Given the description of an element on the screen output the (x, y) to click on. 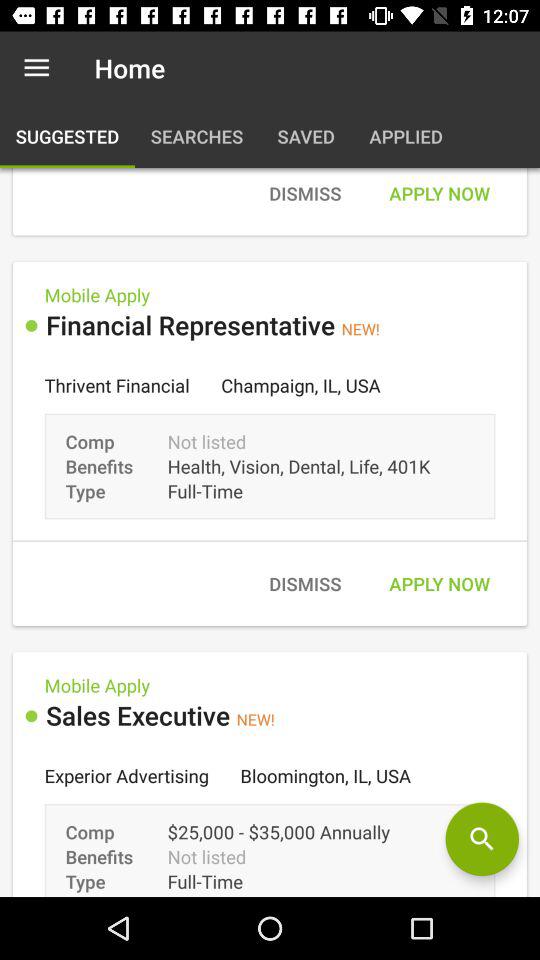
select the icon to the left of the home icon (36, 68)
